Given the description of an element on the screen output the (x, y) to click on. 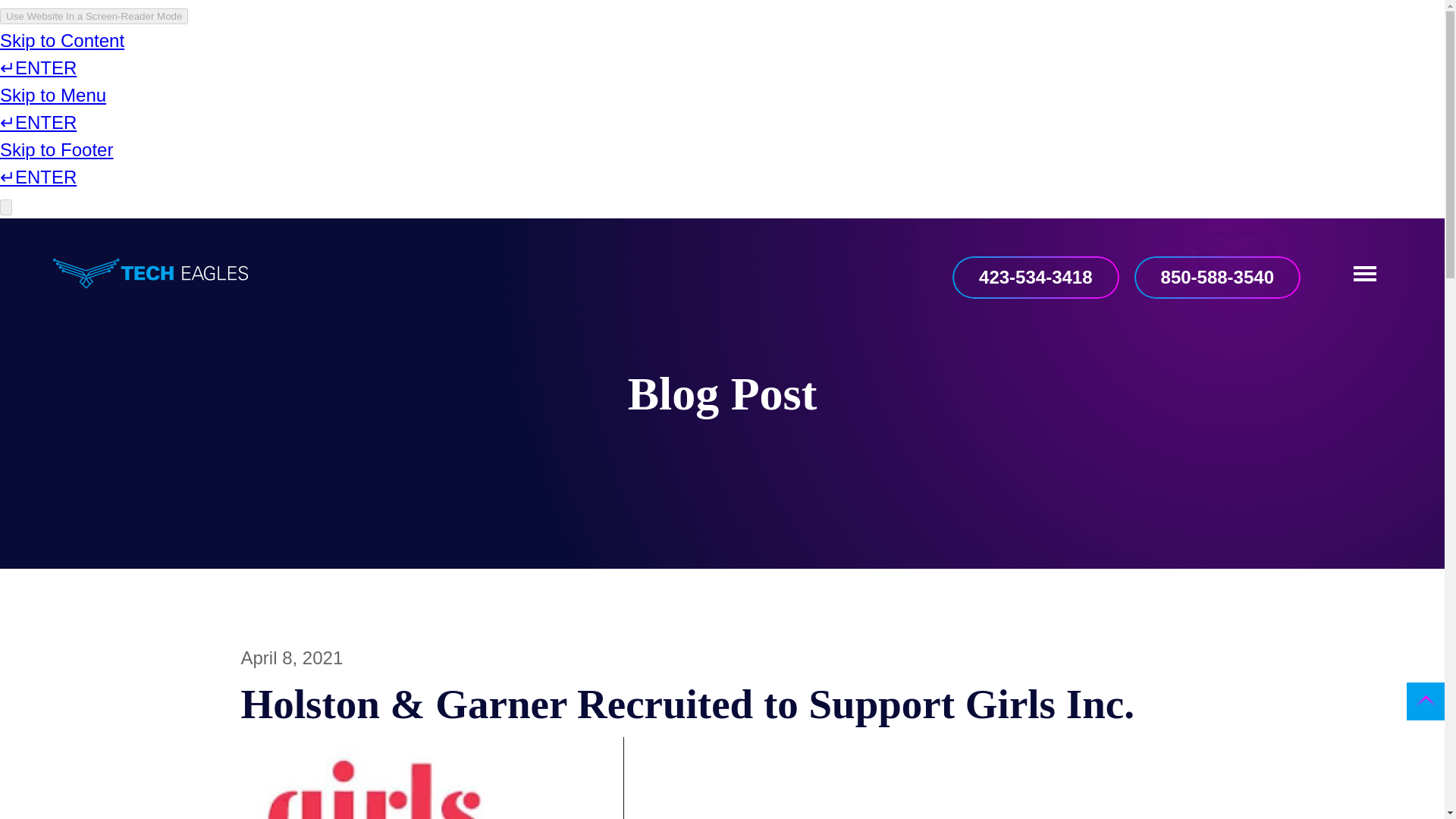
423-534-3418 (1035, 277)
850-588-3540 (1217, 277)
Toggle navigation (1372, 273)
